Given the description of an element on the screen output the (x, y) to click on. 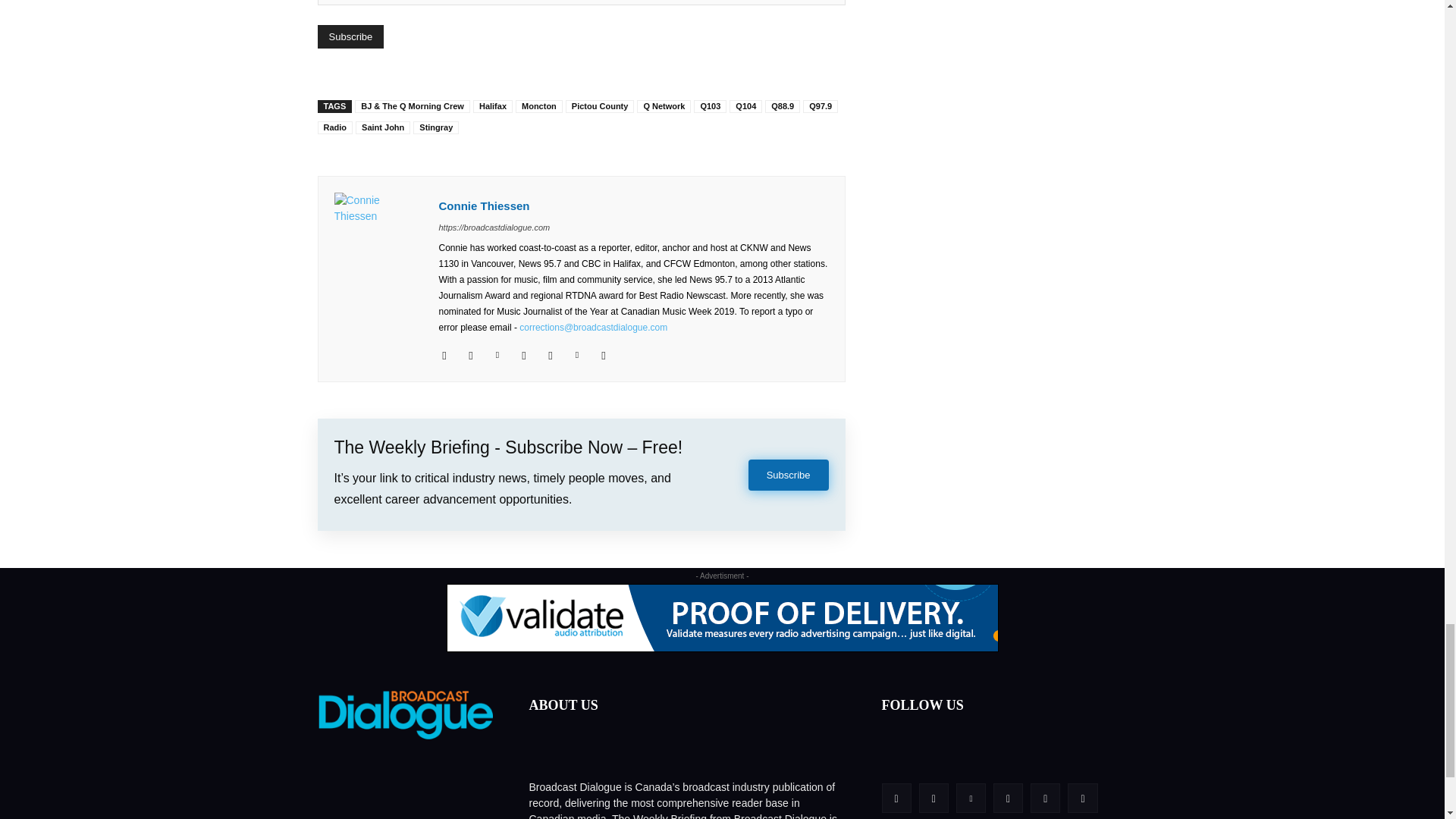
Subscribe (350, 36)
